Given the description of an element on the screen output the (x, y) to click on. 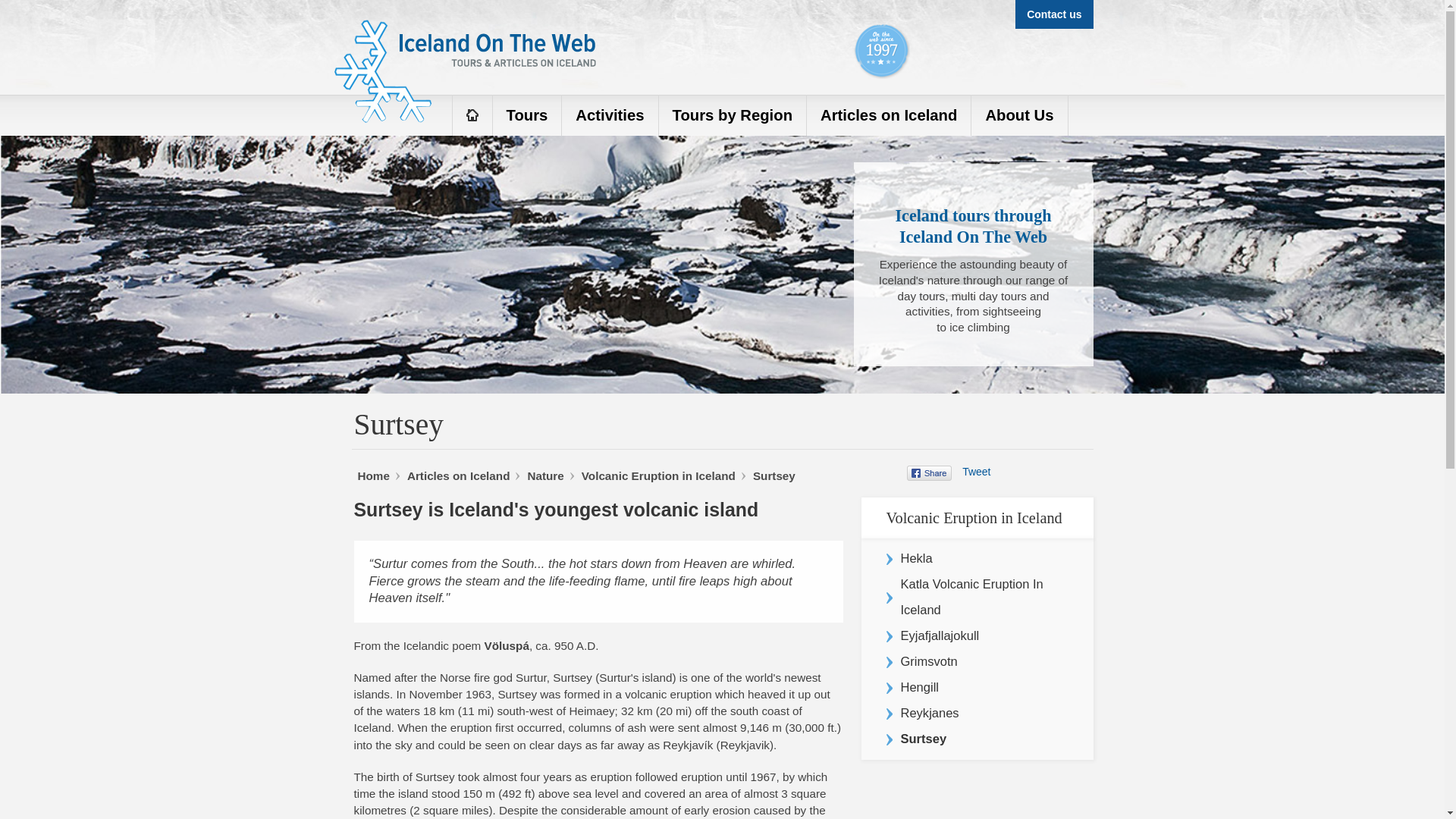
Hengill (977, 687)
Home (374, 475)
Tweet (976, 471)
Share on Facebook (931, 473)
Katla Volcanic Eruption In Iceland (977, 597)
Surtsey (773, 475)
Eyjafjallajokull (977, 636)
Nature (545, 475)
Reykjanes (977, 713)
Articles on Iceland (459, 475)
Home (374, 475)
Surtsey (773, 475)
Share on Facebook (931, 473)
Hekla (977, 558)
Articles on Iceland (459, 475)
